Given the description of an element on the screen output the (x, y) to click on. 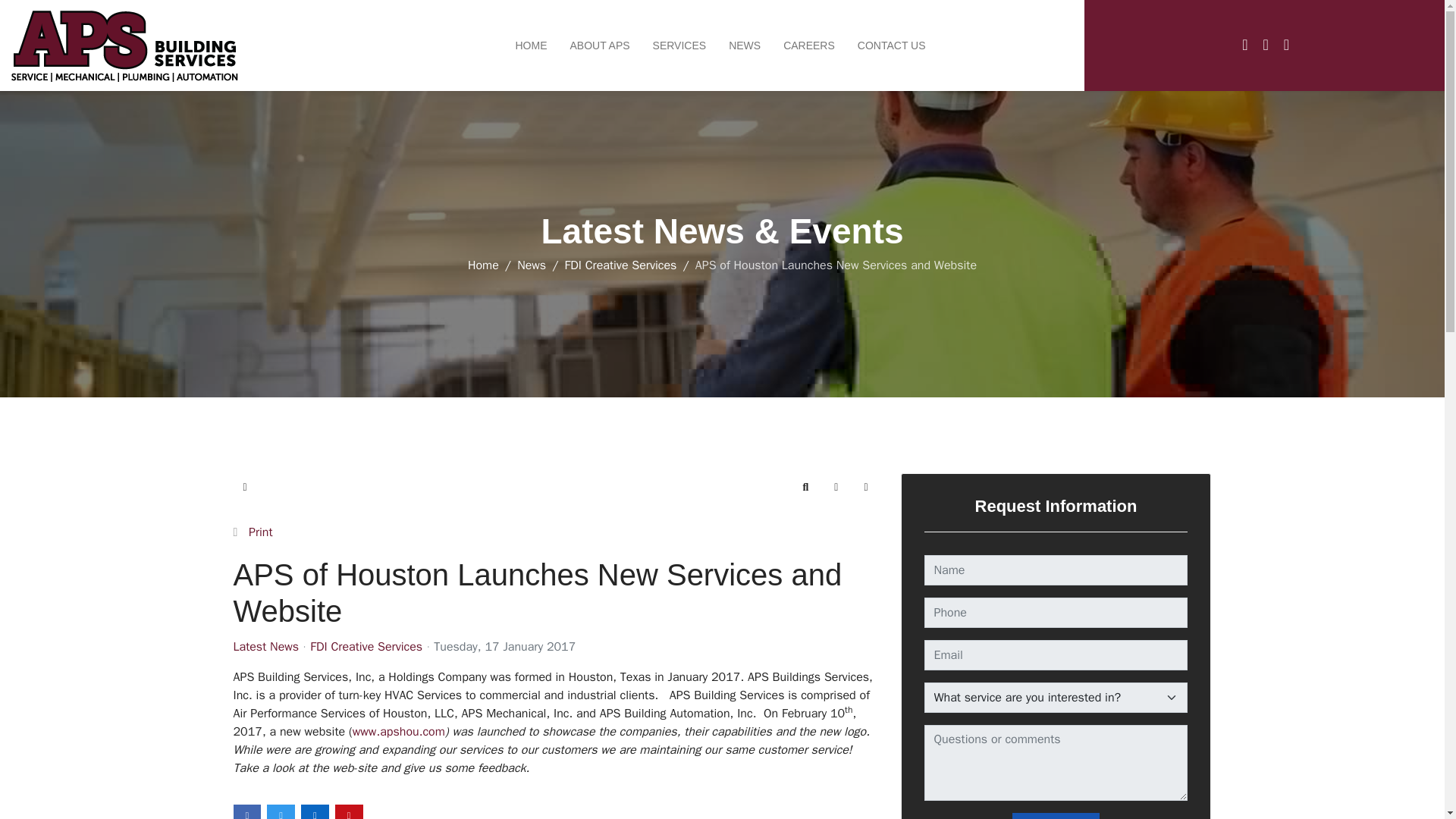
Print (260, 531)
News (531, 264)
Search (805, 487)
ABOUT APS (598, 45)
FDI Creative Services (620, 264)
Home (483, 264)
